Given the description of an element on the screen output the (x, y) to click on. 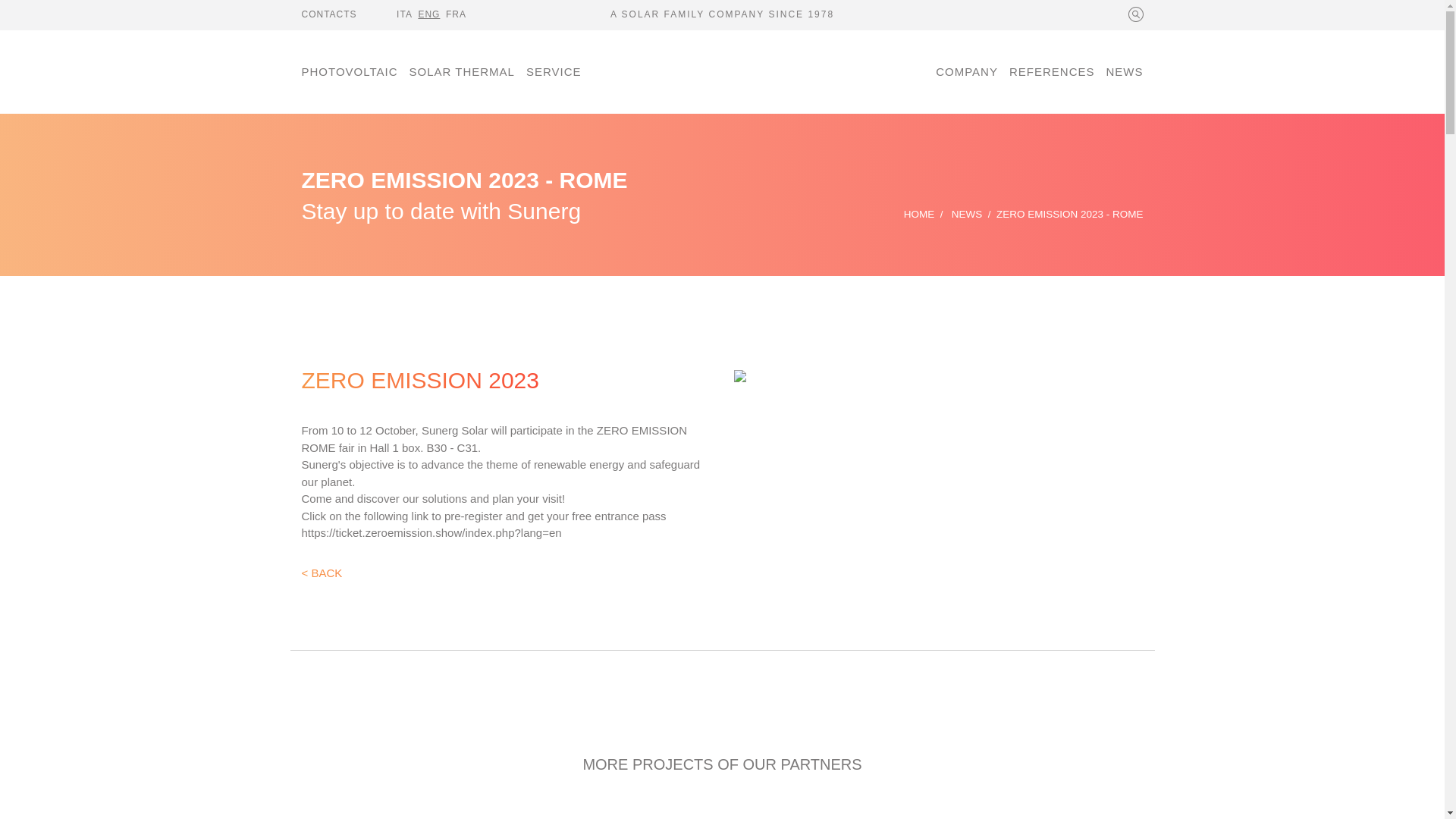
FRA (458, 14)
COMPANY (969, 72)
PHOTOVOLTAIC (352, 72)
SERVICE (552, 72)
SOLAR THERMAL (461, 72)
ITA (406, 14)
CONTACTS (331, 14)
ENG (431, 14)
